Given the description of an element on the screen output the (x, y) to click on. 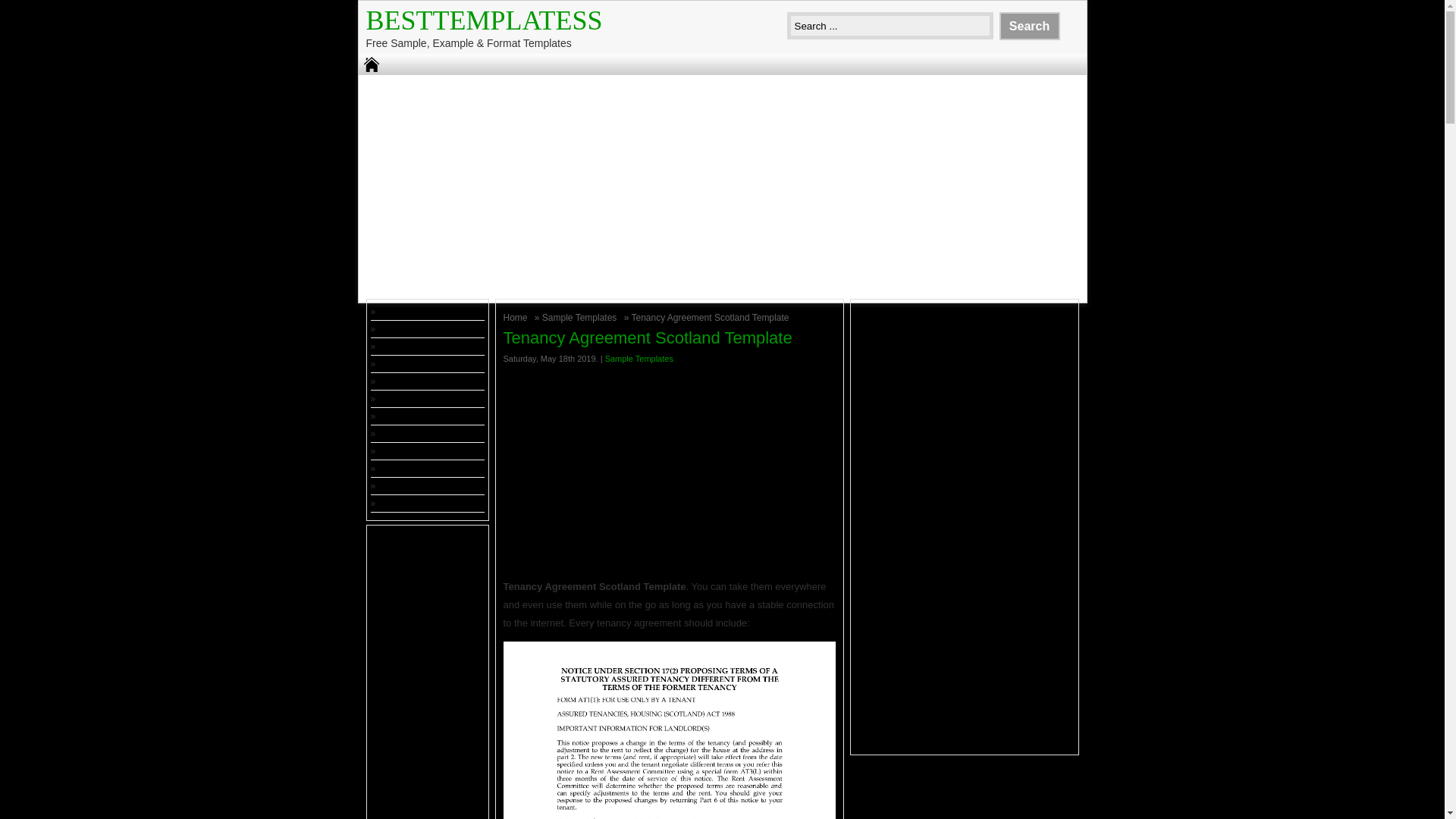
Home (517, 317)
Excel Templates (411, 398)
Format Templates (414, 433)
Sample Templates (581, 317)
Search ...  (889, 25)
Order Templates (411, 450)
BestTemplatess (483, 20)
Word Templates (411, 502)
Agenda Templates (414, 311)
Resume Templates (417, 468)
Agreement Templates (421, 328)
Search (1028, 26)
Blank Templates (411, 380)
Sample Templates (581, 317)
Form Templates (411, 416)
